Given the description of an element on the screen output the (x, y) to click on. 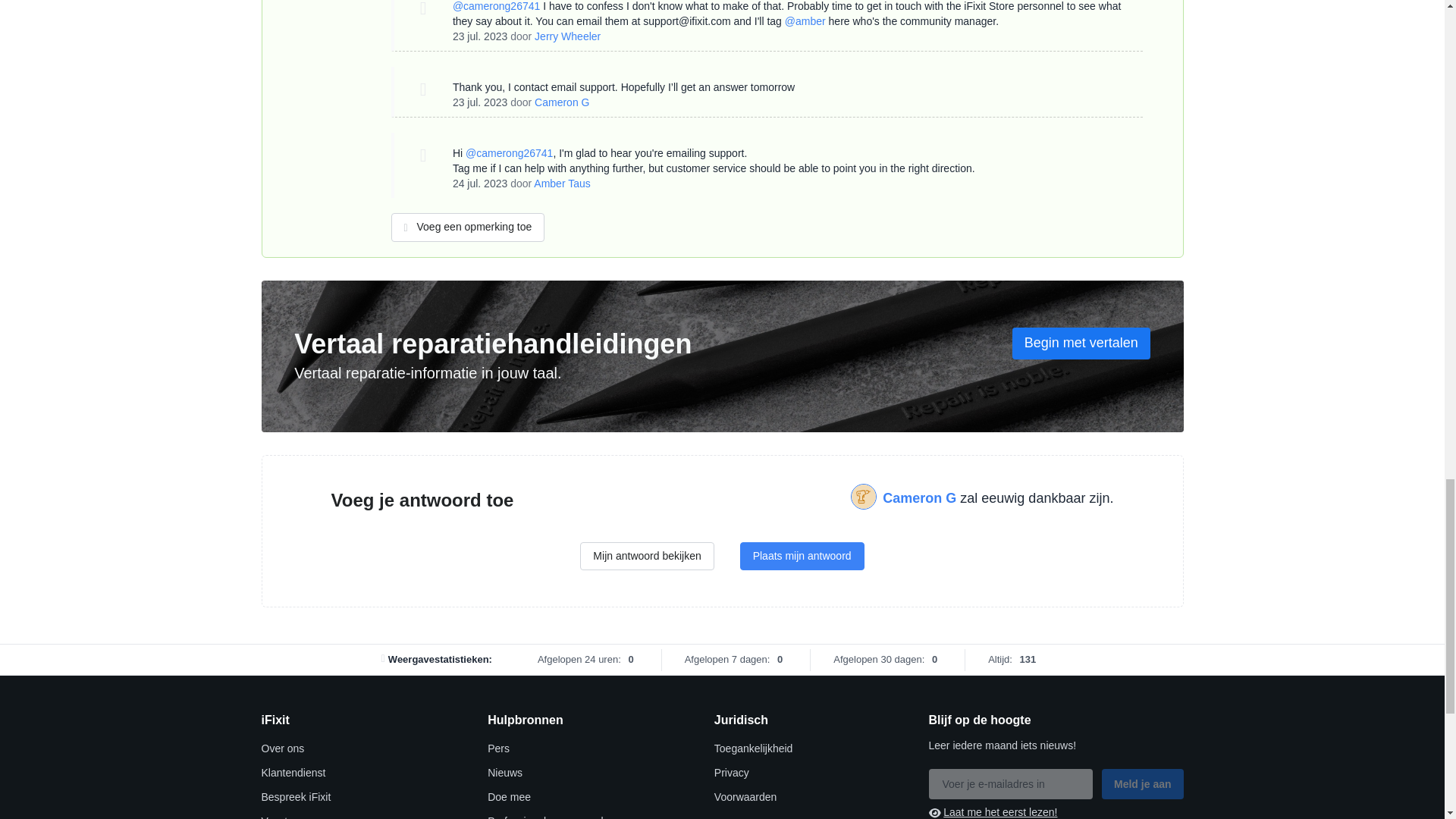
Sun, 23 Jul 2023 13:05:27 -0700 (479, 102)
Sun, 23 Jul 2023 12:21:11 -0700 (479, 36)
Mon, 24 Jul 2023 12:31:04 -0700 (479, 183)
